Given the description of an element on the screen output the (x, y) to click on. 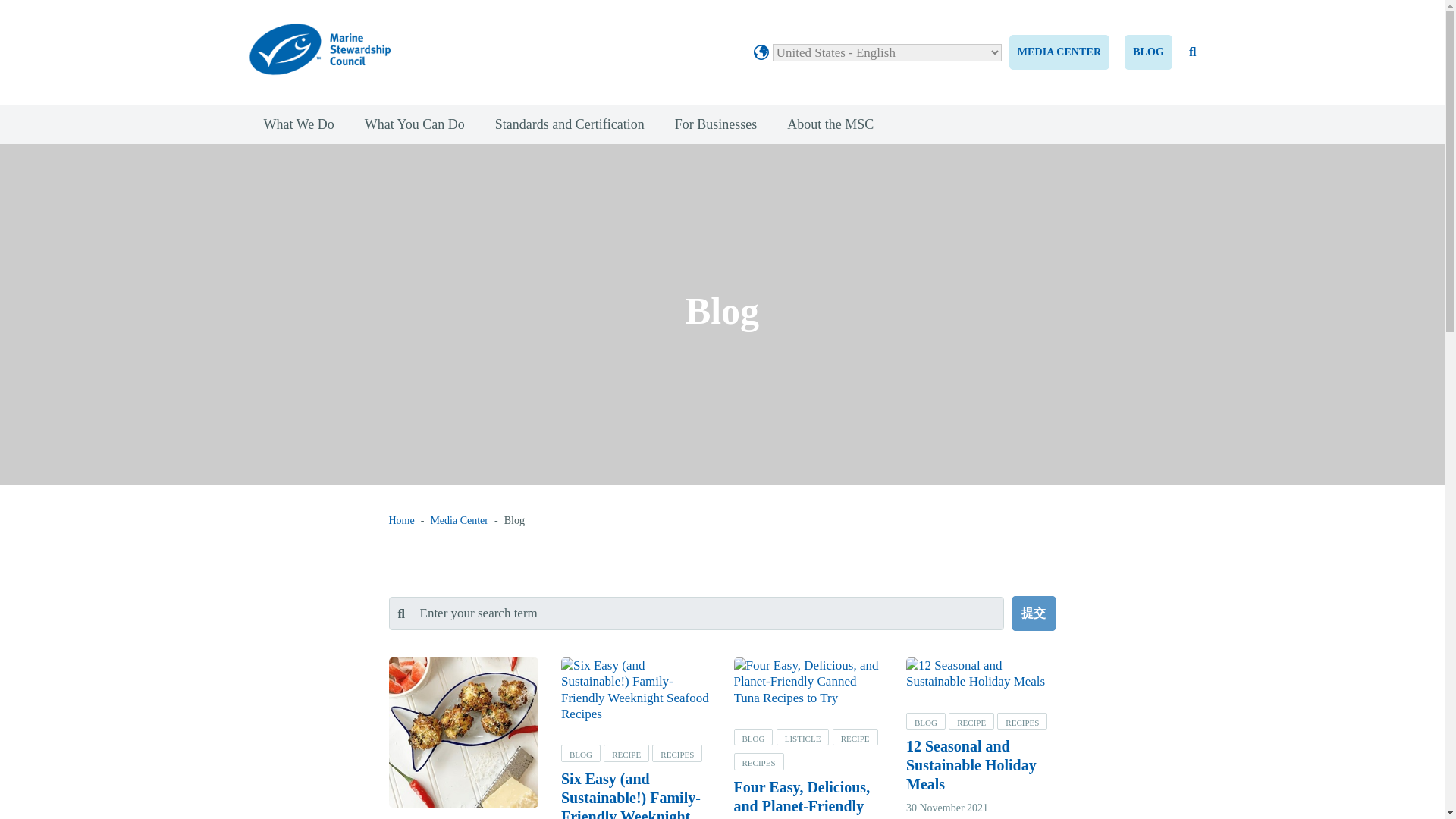
What You Can Do (414, 124)
What We Do (298, 124)
About the MSC (829, 124)
Standards and Certification (569, 124)
BLOG (1148, 52)
MEDIA CENTER (1059, 52)
Enter your search term (696, 613)
What We Do (298, 124)
For Businesses (716, 124)
